Given the description of an element on the screen output the (x, y) to click on. 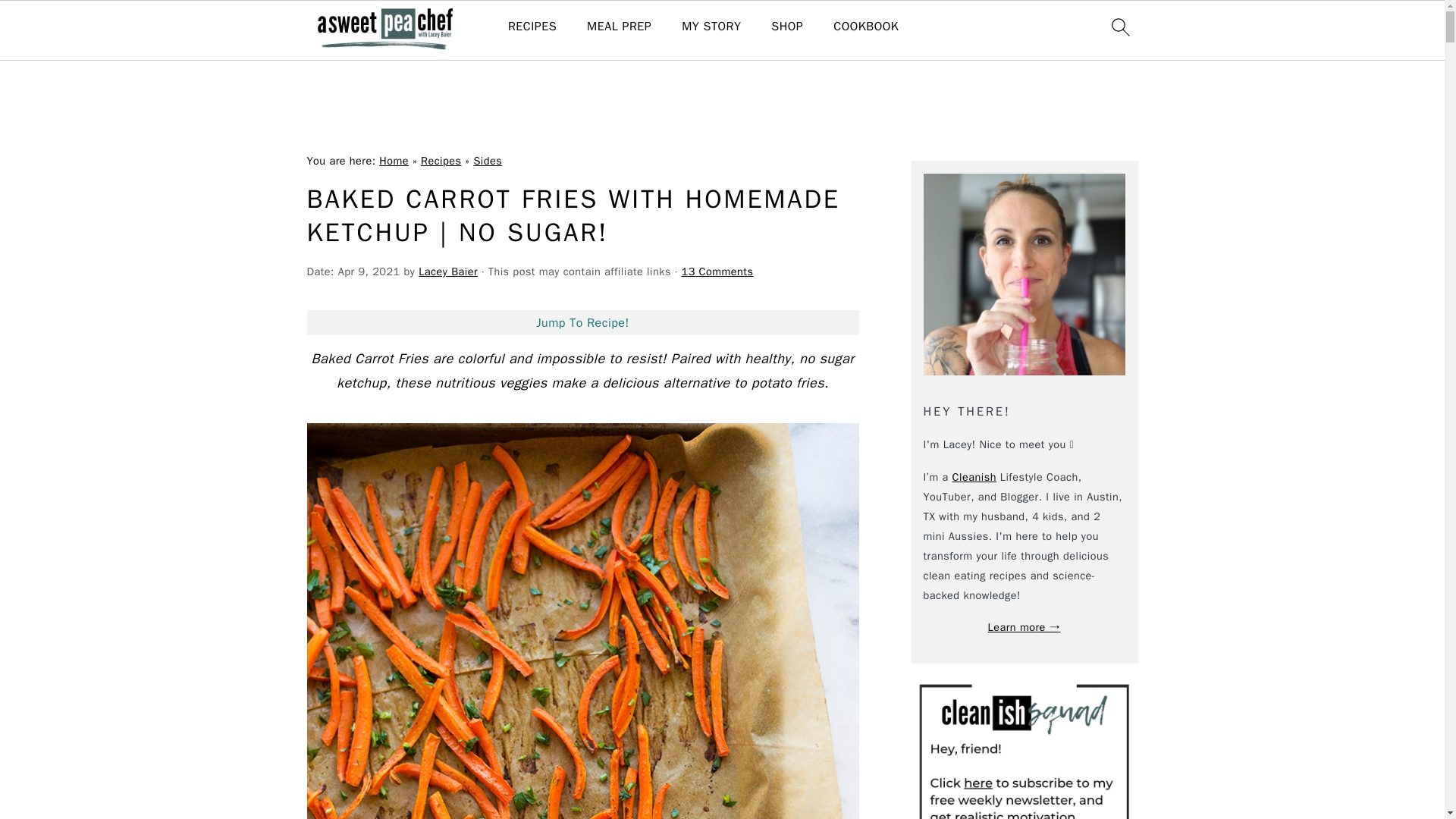
Home (393, 160)
RECIPES (532, 27)
Jump To Recipe! (581, 322)
Sides (487, 160)
MEAL PREP (618, 27)
13 Comments (716, 271)
SEARCH ICON (1119, 26)
MY STORY (711, 27)
Lacey Baier (448, 271)
COOKBOOK (865, 27)
Recipes (440, 160)
SHOP (787, 27)
author-square (1024, 274)
SEARCH ICON (1119, 31)
